Given the description of an element on the screen output the (x, y) to click on. 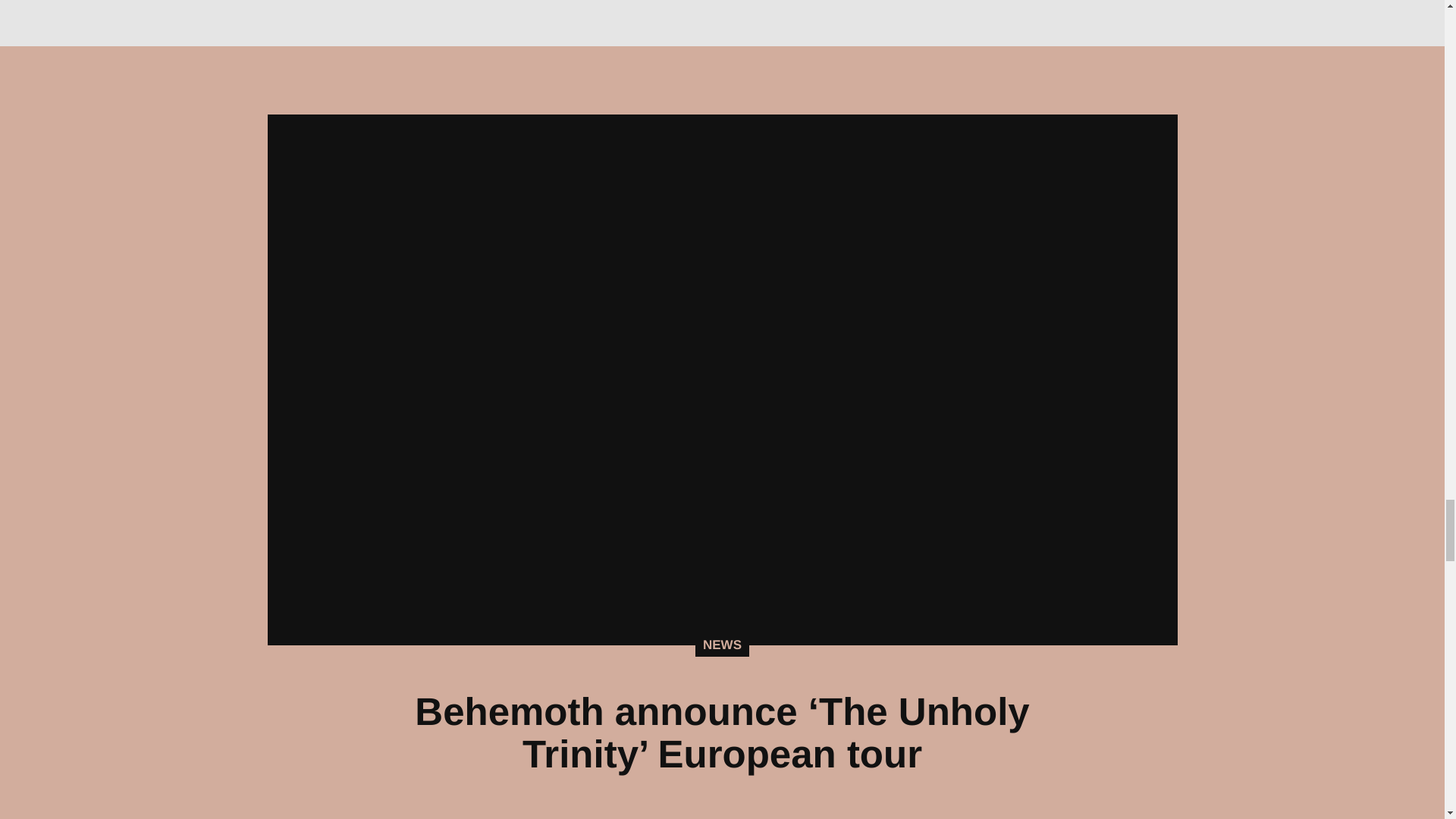
NEWS (722, 644)
